Given the description of an element on the screen output the (x, y) to click on. 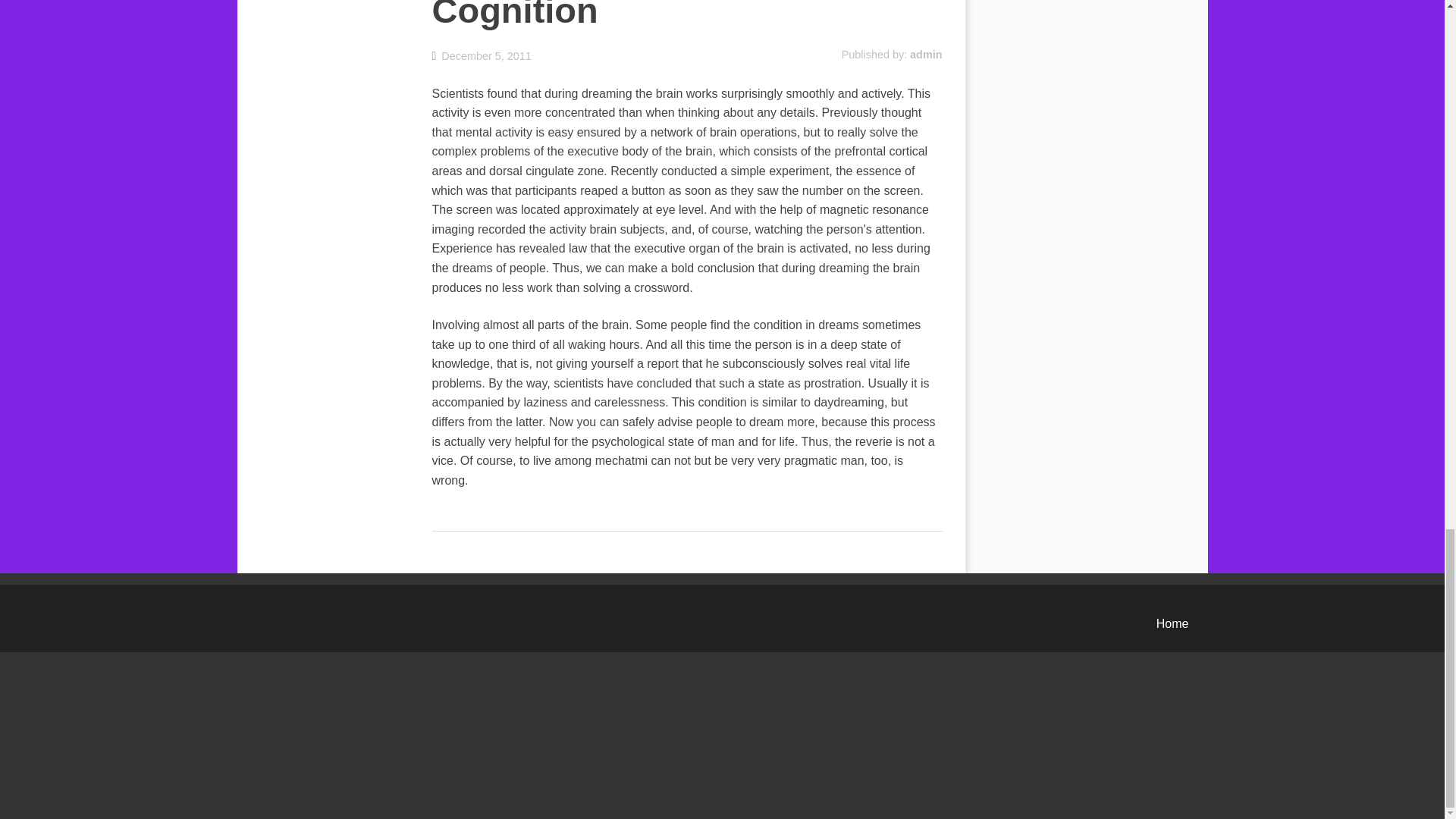
Posts by admin (926, 54)
December 5, 2011 (481, 55)
admin (926, 54)
3:07 am (481, 55)
Home (1172, 623)
